Given the description of an element on the screen output the (x, y) to click on. 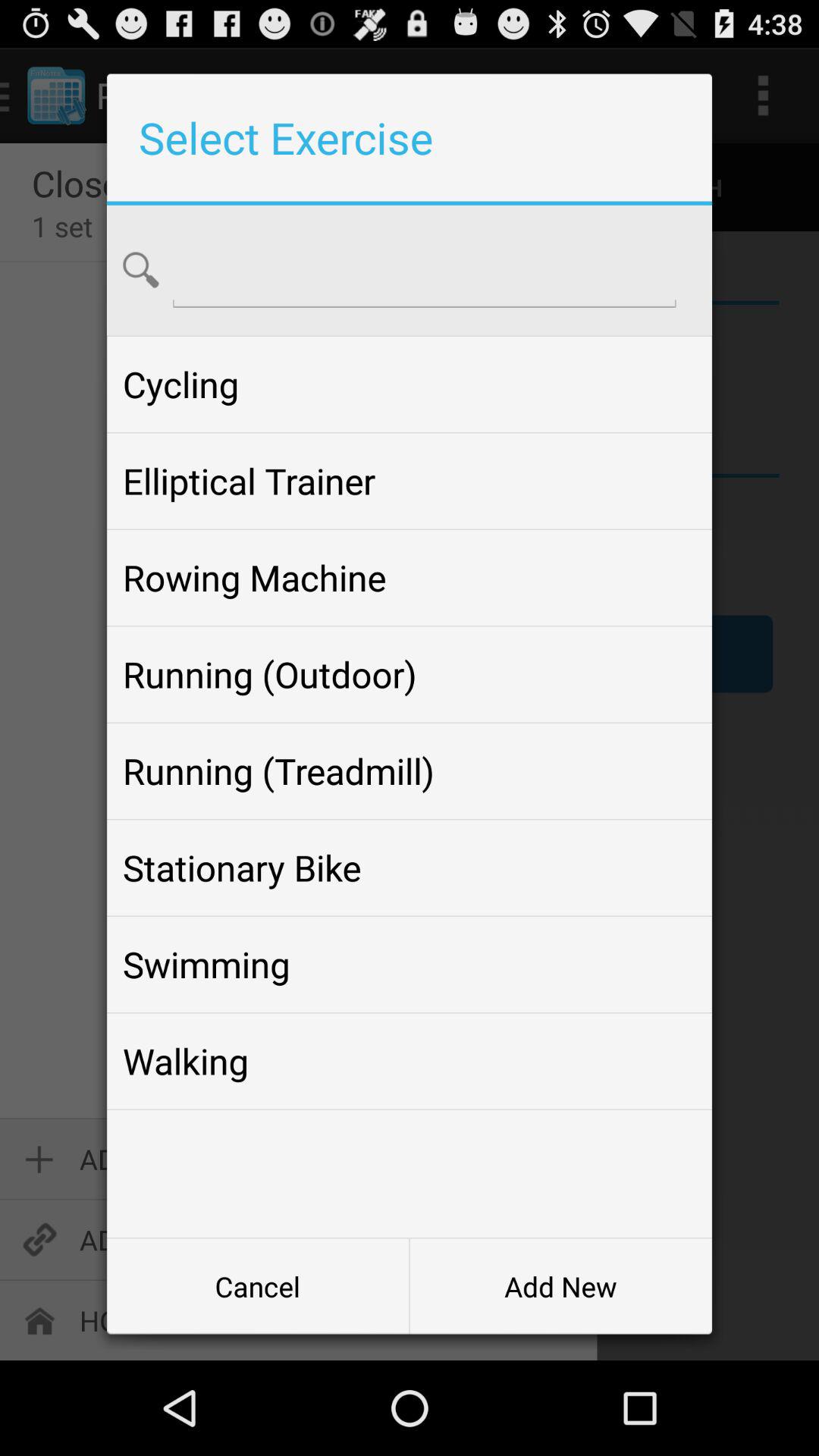
turn on item at the bottom (409, 1061)
